Given the description of an element on the screen output the (x, y) to click on. 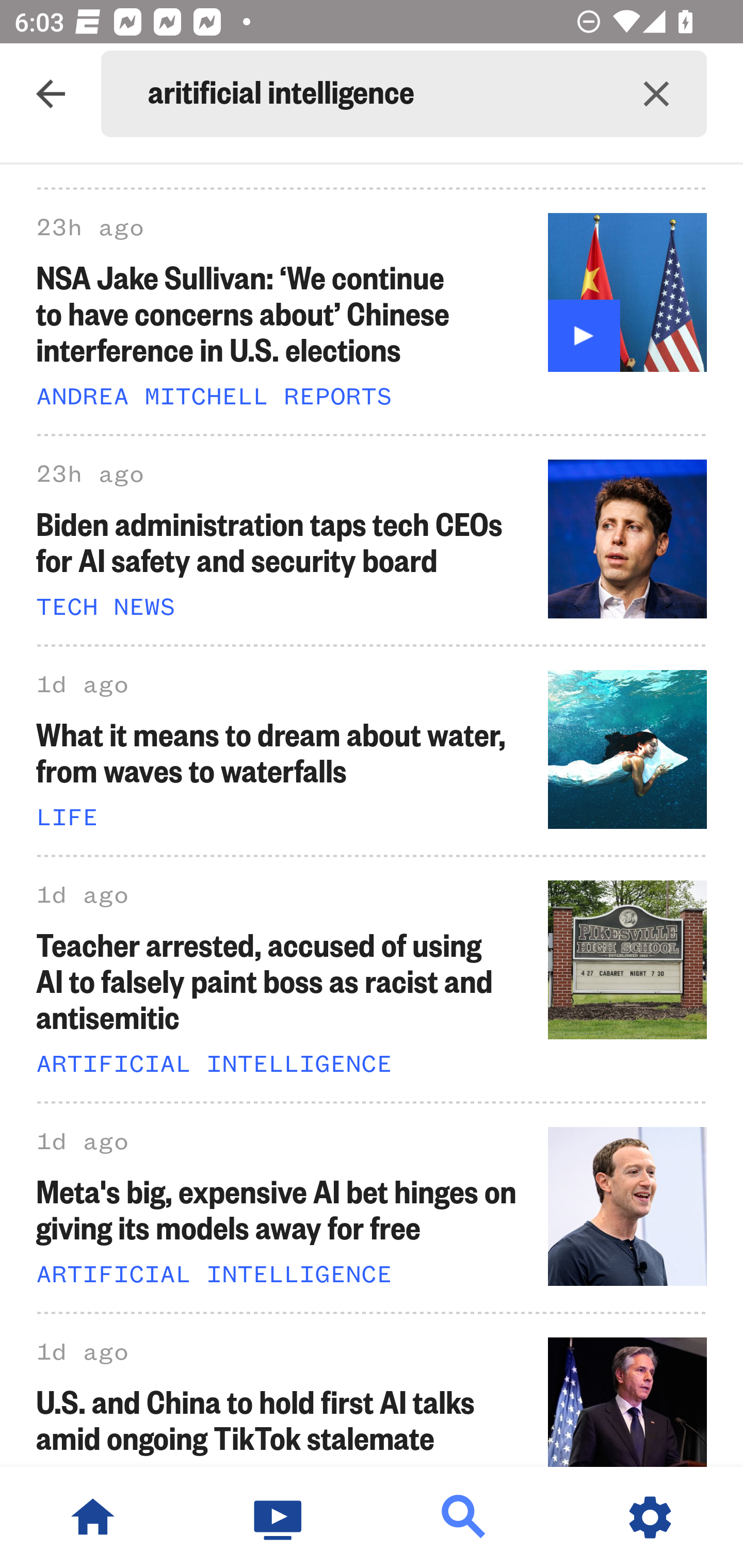
Navigate up (50, 93)
Clear query (656, 93)
aritificial intelligence (376, 94)
NBC News Home (92, 1517)
Watch (278, 1517)
Settings (650, 1517)
